Given the description of an element on the screen output the (x, y) to click on. 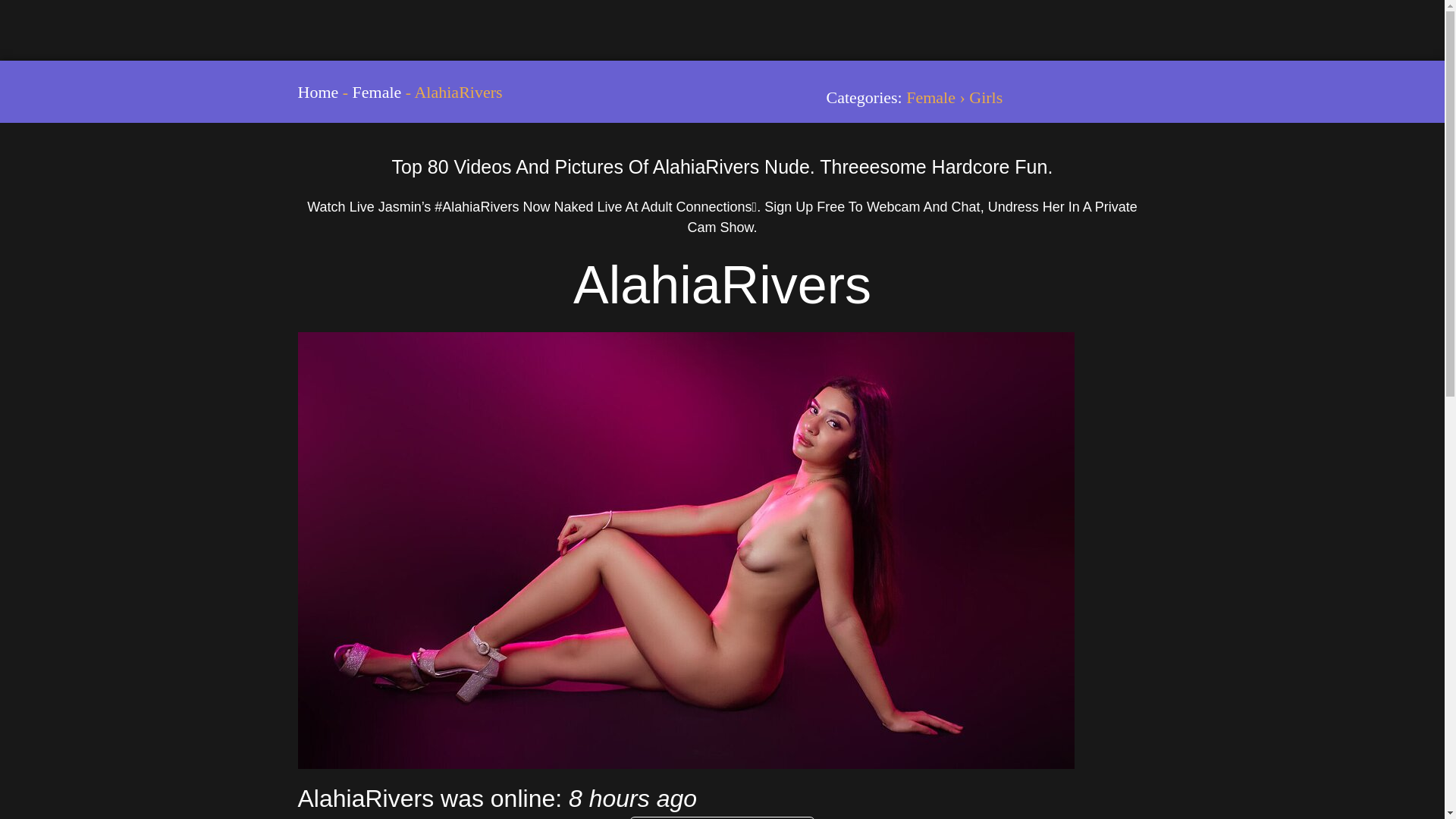
Female (376, 91)
Enter AlahiaRivers VIP Show (721, 817)
Home (317, 91)
